Given the description of an element on the screen output the (x, y) to click on. 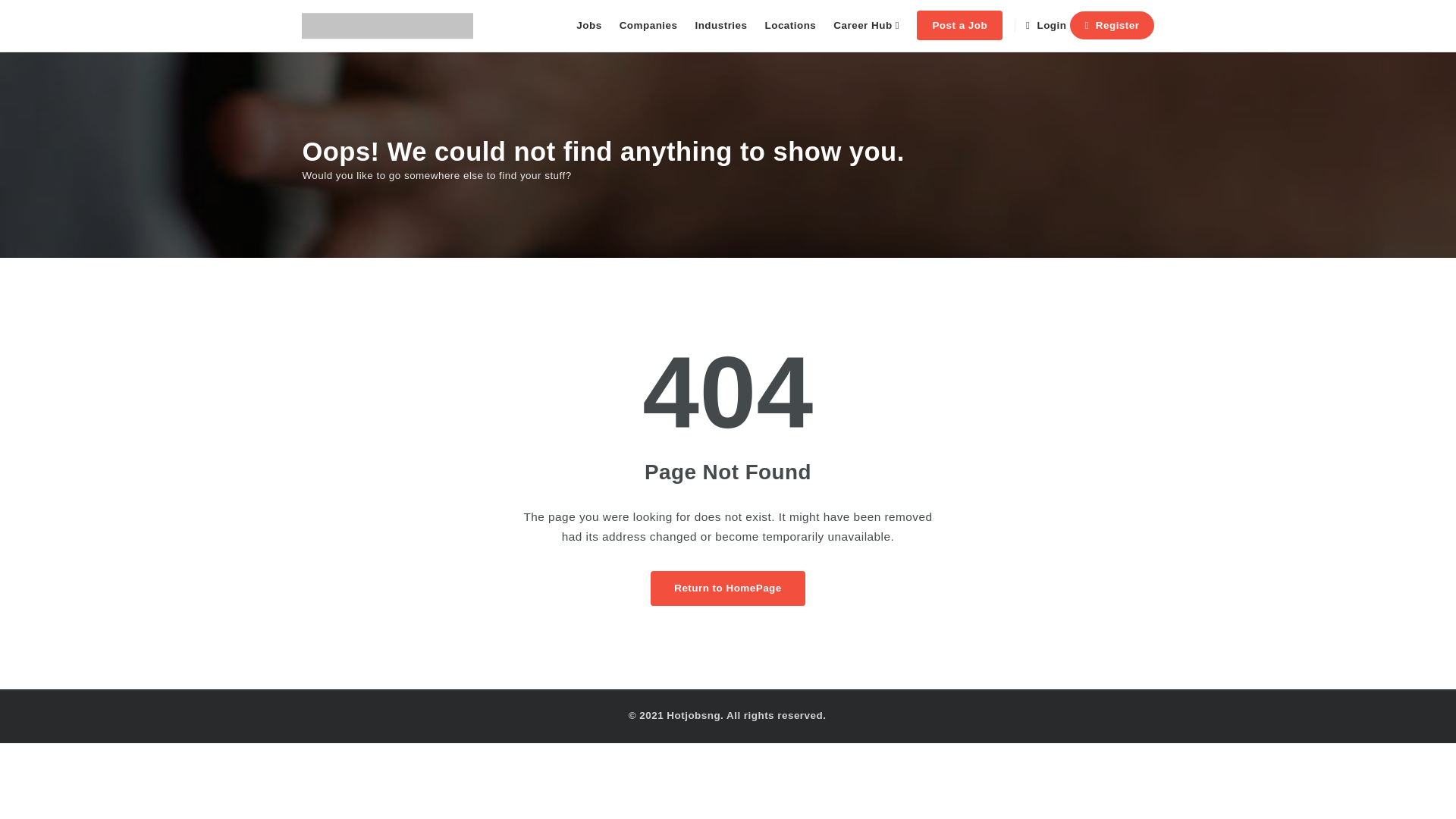
Companies (675, 27)
 Register (1158, 26)
Industries (750, 27)
Post a Job (1000, 26)
Return to HomePage (758, 612)
Locations (823, 27)
Home Page (758, 612)
